Given the description of an element on the screen output the (x, y) to click on. 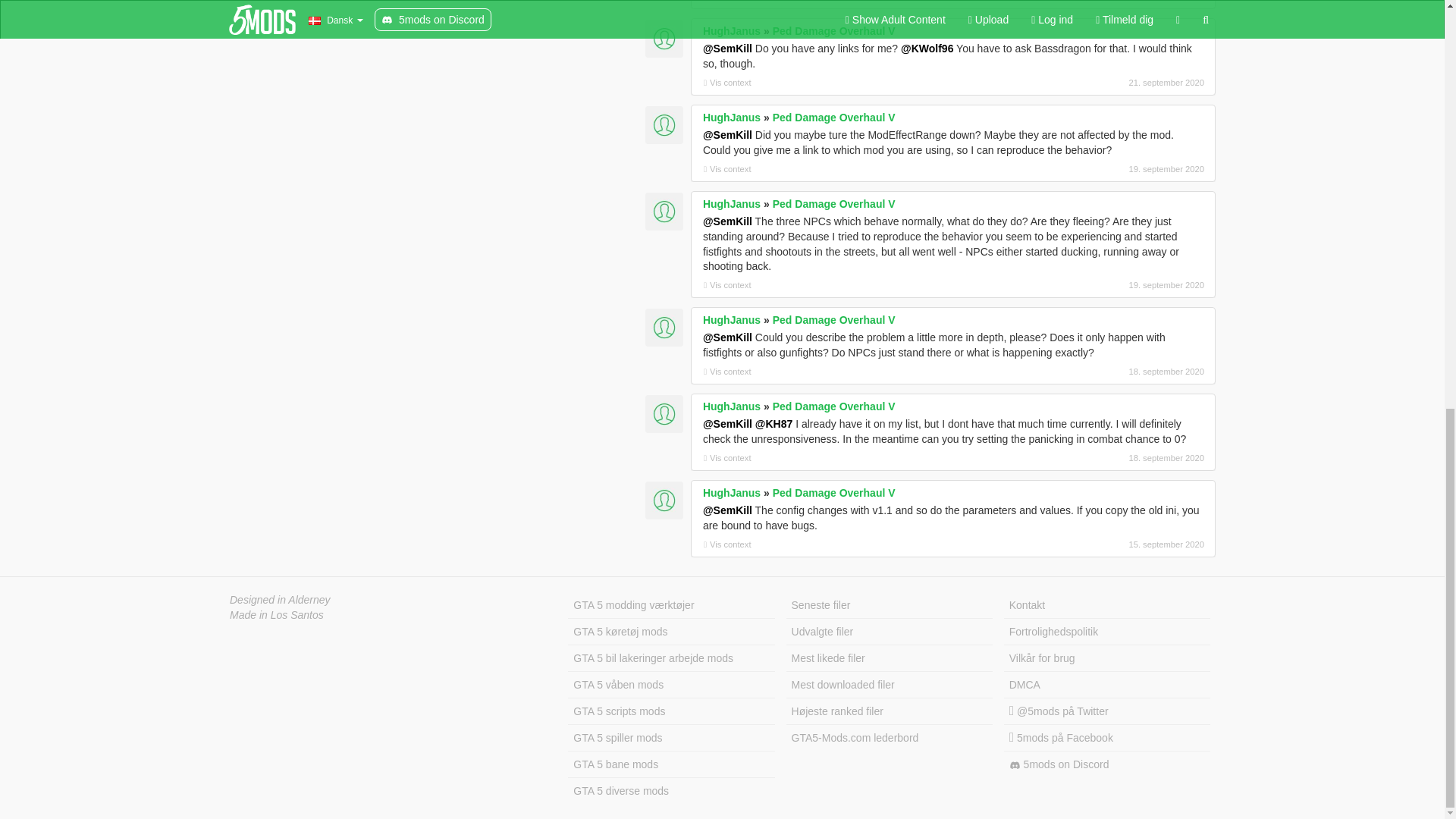
21. september 2020, 11.48 (1124, 82)
19. november 2020, 18.11 (1124, 1)
19. september 2020, 09.23 (1124, 169)
18. september 2020, 16.17 (1124, 371)
19. september 2020, 05.21 (1124, 284)
18. september 2020, 05.54 (1124, 458)
15. september 2020, 09.22 (1124, 544)
